Given the description of an element on the screen output the (x, y) to click on. 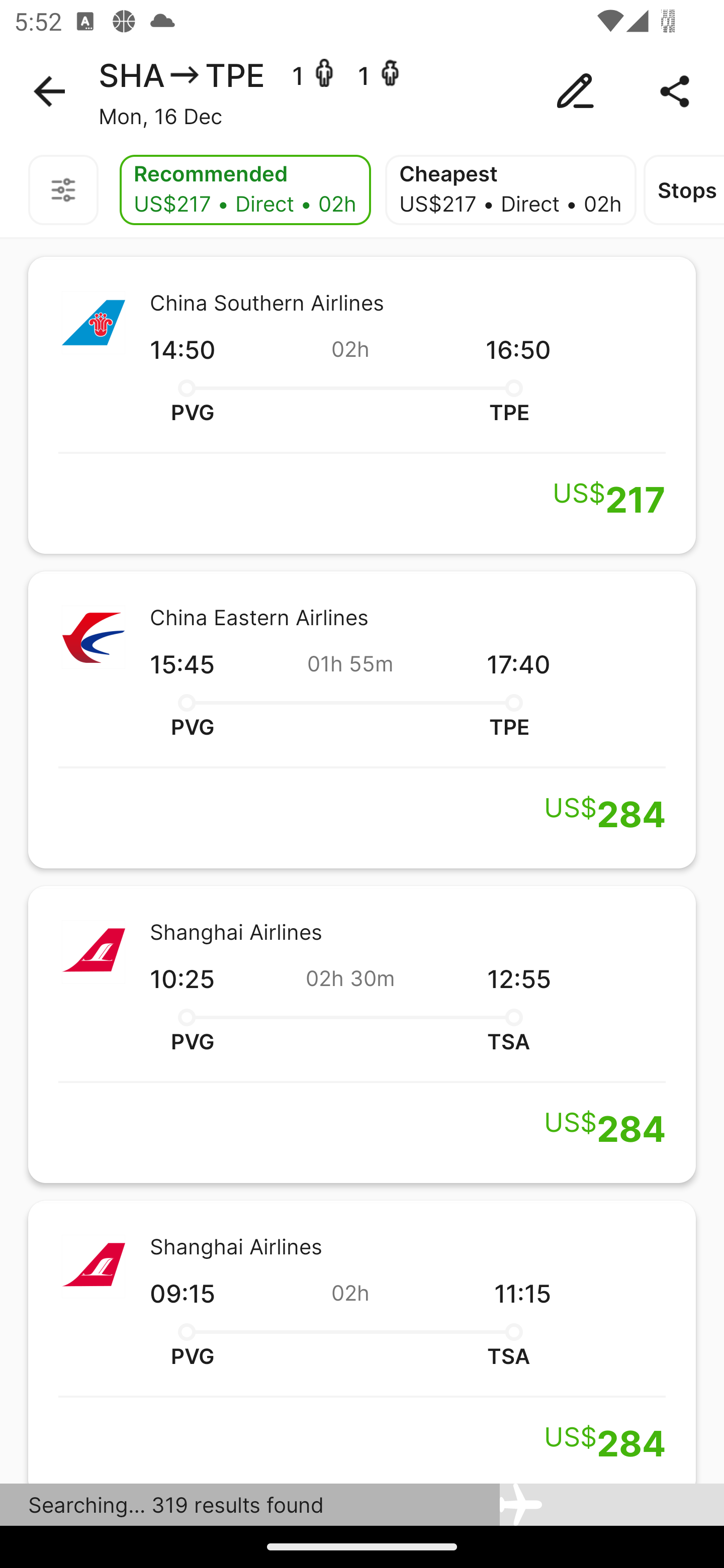
SHA TPE   1 -   1 - Mon, 16 Dec (361, 91)
Recommended  US$217 • Direct • 02h (244, 190)
Cheapest US$217 • Direct • 02h (510, 190)
Stops (683, 190)
China Southern Airlines 14:50 02h 16:50 PVG TPE (361, 405)
China Eastern Airlines 15:45 01h 55m 17:40 PVG TPE (361, 719)
Shanghai Airlines 10:25 02h 30m 12:55 PVG TSA (361, 1033)
Shanghai Airlines 09:15 02h 11:15 PVG TSA (361, 1342)
